Given the description of an element on the screen output the (x, y) to click on. 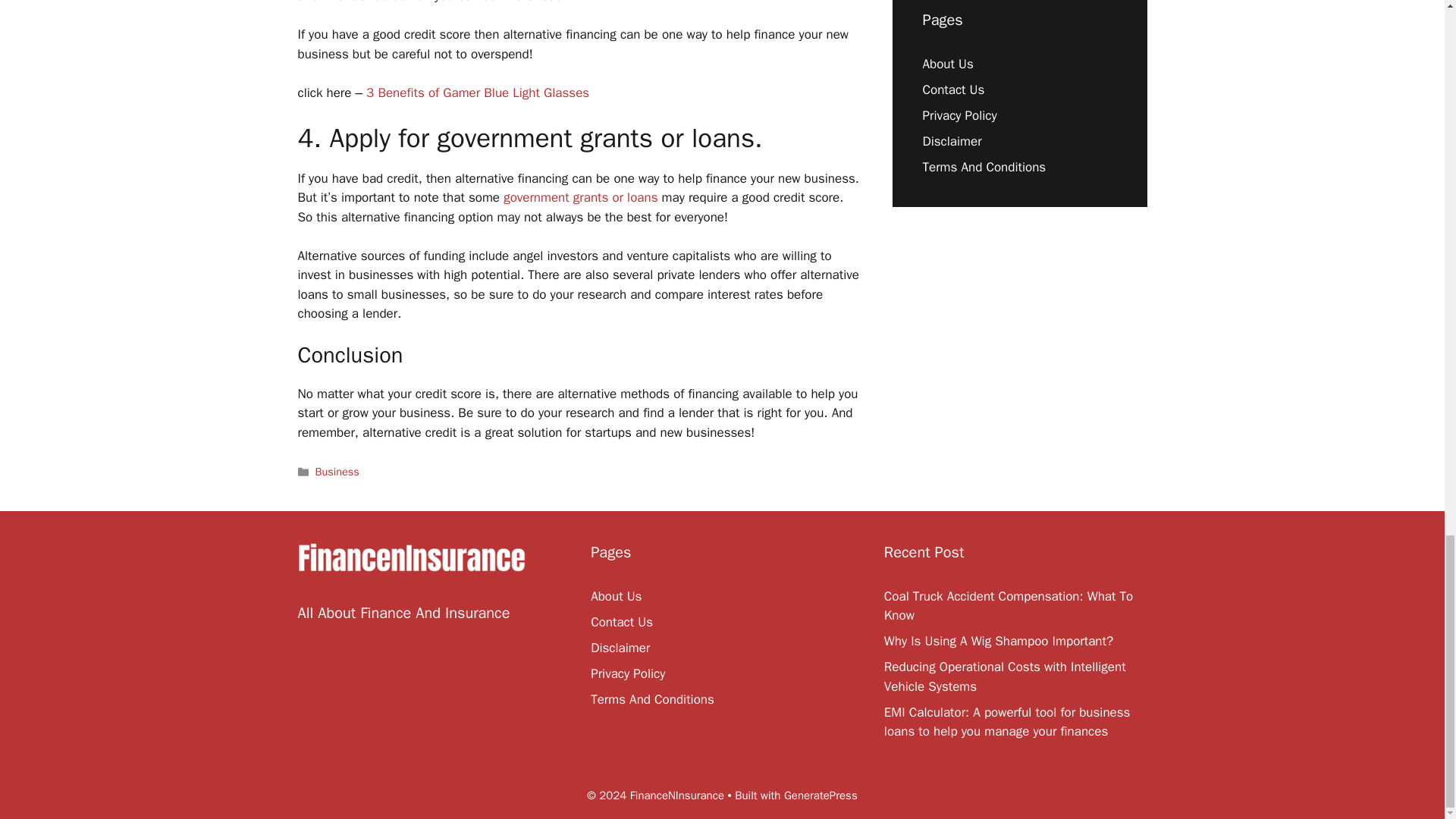
government grants or loans (578, 197)
3 Benefits of Gamer Blue Light Glasses (477, 92)
Business (337, 471)
